Given the description of an element on the screen output the (x, y) to click on. 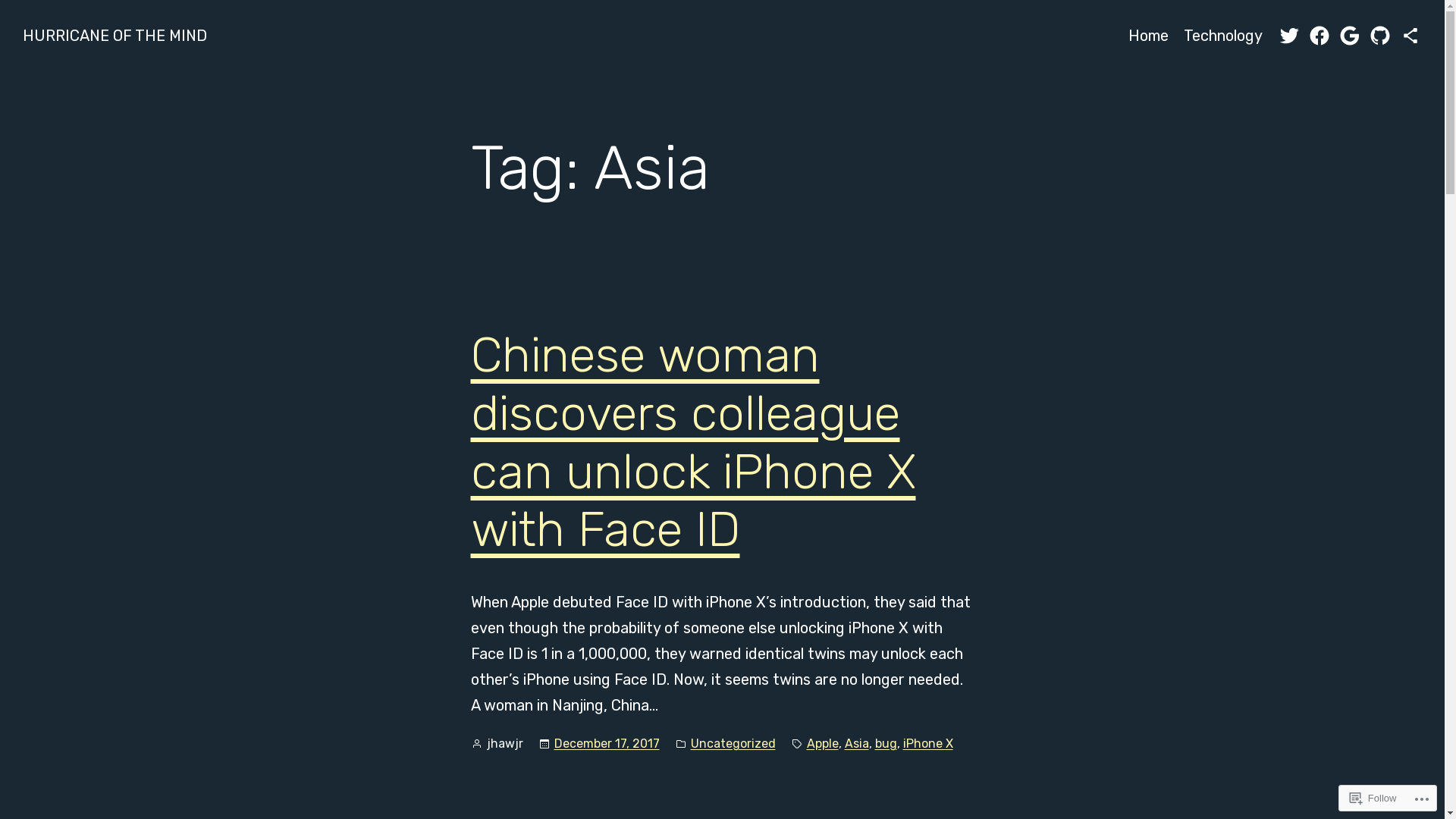
Home Element type: text (1148, 35)
iPhone X Element type: text (927, 743)
Technology Element type: text (1222, 35)
Uncategorized Element type: text (732, 743)
December 17, 2017 Element type: text (605, 743)
Apple Element type: text (822, 743)
bug Element type: text (886, 743)
Asia Element type: text (856, 743)
Follow Element type: text (1372, 797)
HURRICANE OF THE MIND Element type: text (114, 35)
